Given the description of an element on the screen output the (x, y) to click on. 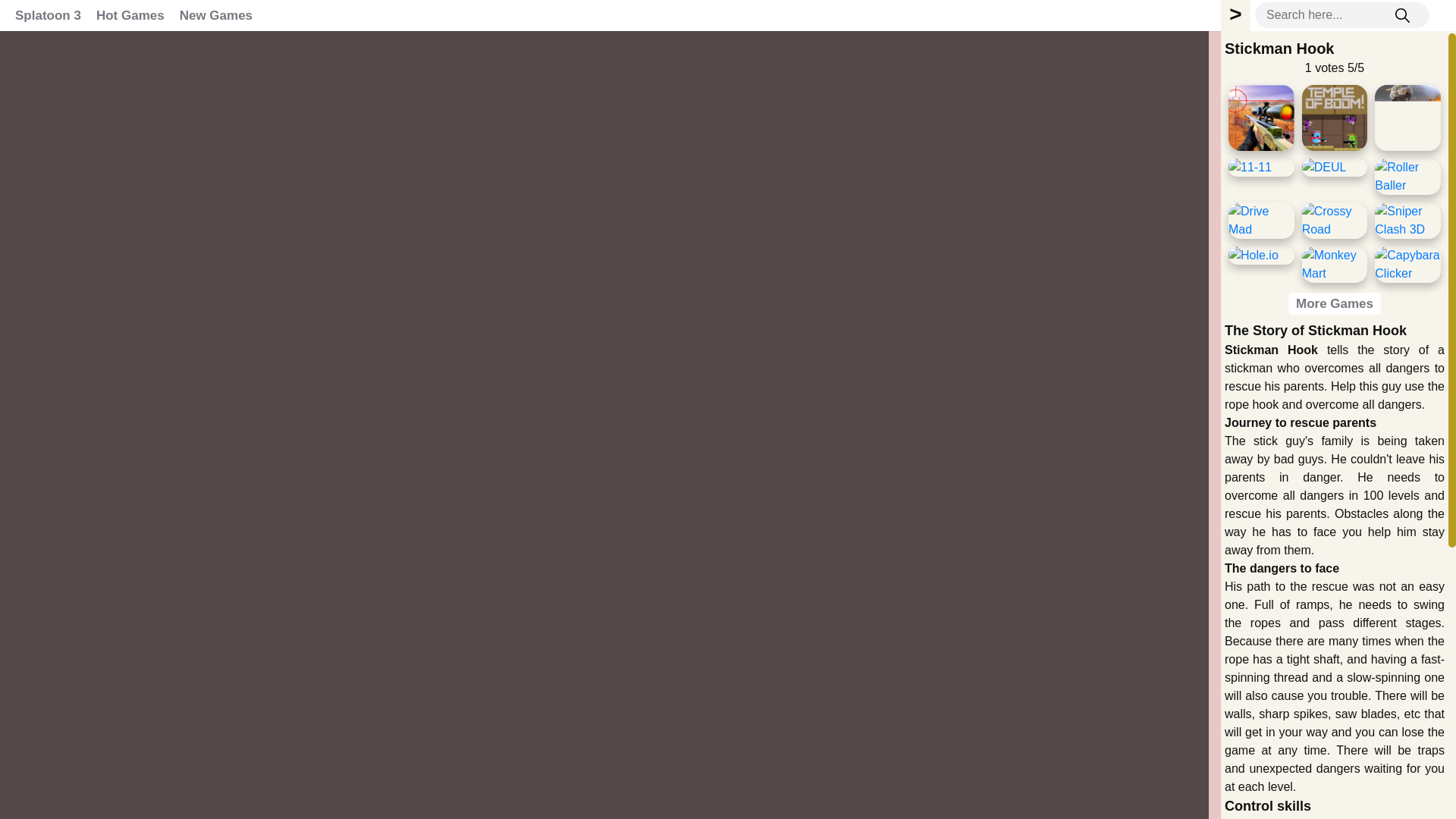
Monkey Mart  (1334, 264)
Bullet Force  (1407, 117)
11-11 (1249, 167)
New Games (215, 15)
DEUL (1323, 167)
Sniper Clash 3D (1407, 220)
More Games (1334, 303)
More Games (1334, 303)
Drive Mad (1261, 220)
Roller Baller (1407, 176)
